Given the description of an element on the screen output the (x, y) to click on. 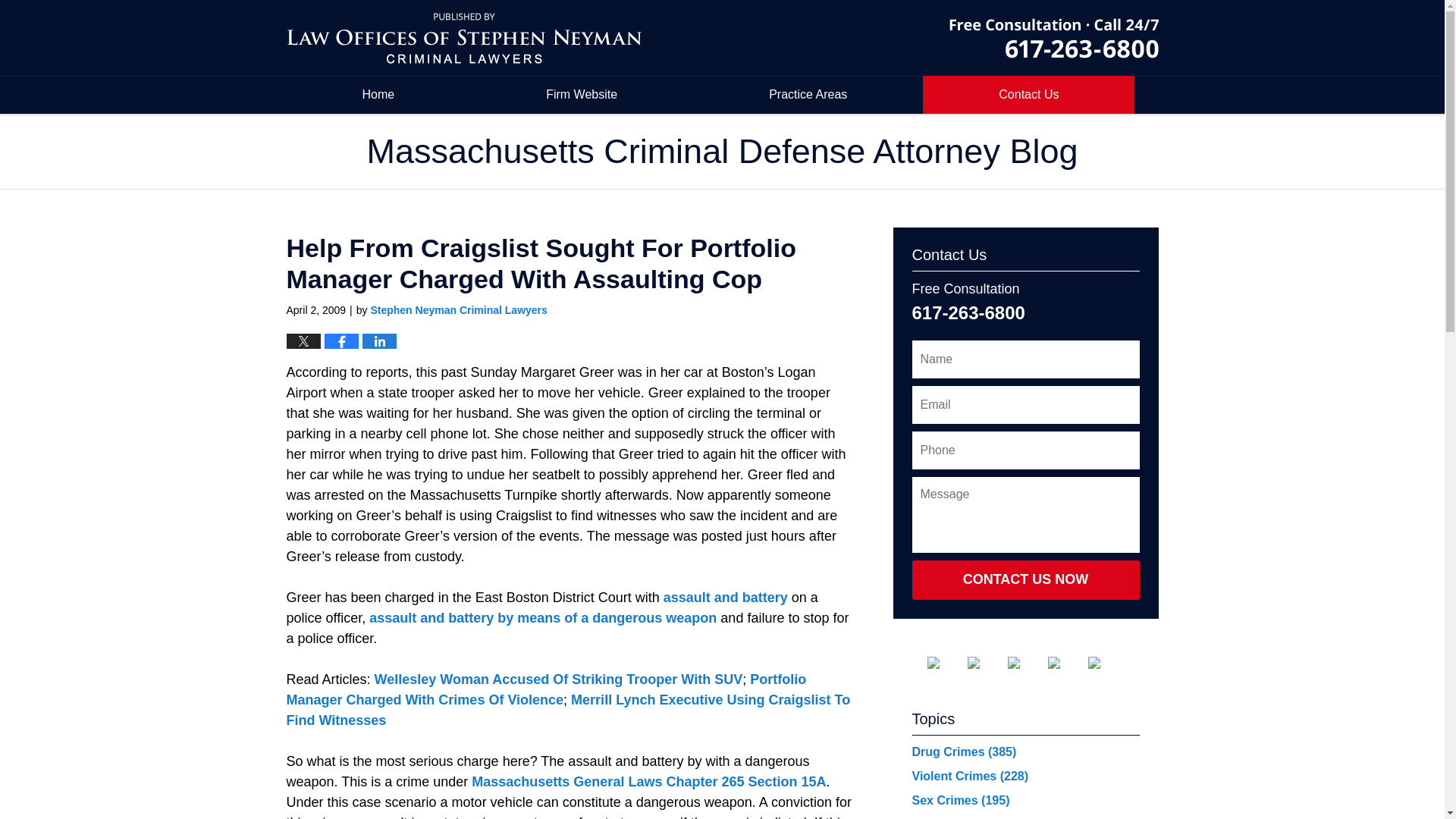
Merrill Lynch Executive Using Craigslist To Find Witnesses (568, 710)
Contact Us (1028, 94)
Facebook (944, 662)
Firm Website (581, 94)
Portfolio Manager Charged With Crimes Of Violence (546, 689)
Twitter (986, 662)
Massachusetts General Laws Chapter 265 Section 15A (648, 781)
assault and battery by means of a dangerous weapon (544, 617)
Feed (1105, 662)
Please enter a valid phone number. (1024, 450)
